Given the description of an element on the screen output the (x, y) to click on. 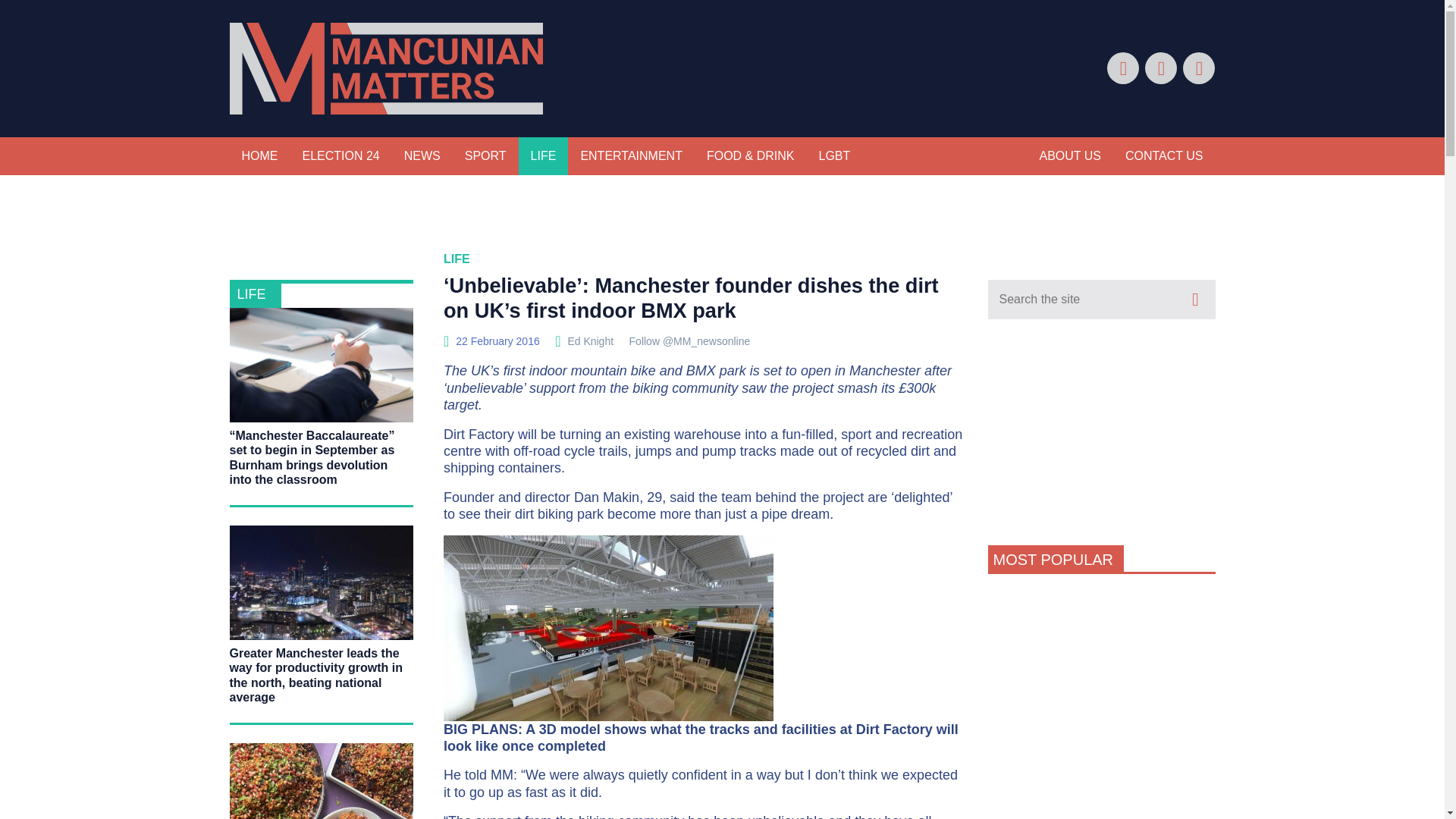
Ed Knight (589, 340)
YoutTube (1198, 68)
CONTACT US (1164, 156)
LIFE (543, 156)
Twitter (1160, 68)
LIFE (254, 294)
Sport (485, 156)
ENTERTAINMENT (630, 156)
ABOUT US (1069, 156)
3rd party ad content (1100, 680)
Advertisement (1100, 806)
HOME (258, 156)
LGBT (833, 156)
News (421, 156)
SPORT (485, 156)
